Given the description of an element on the screen output the (x, y) to click on. 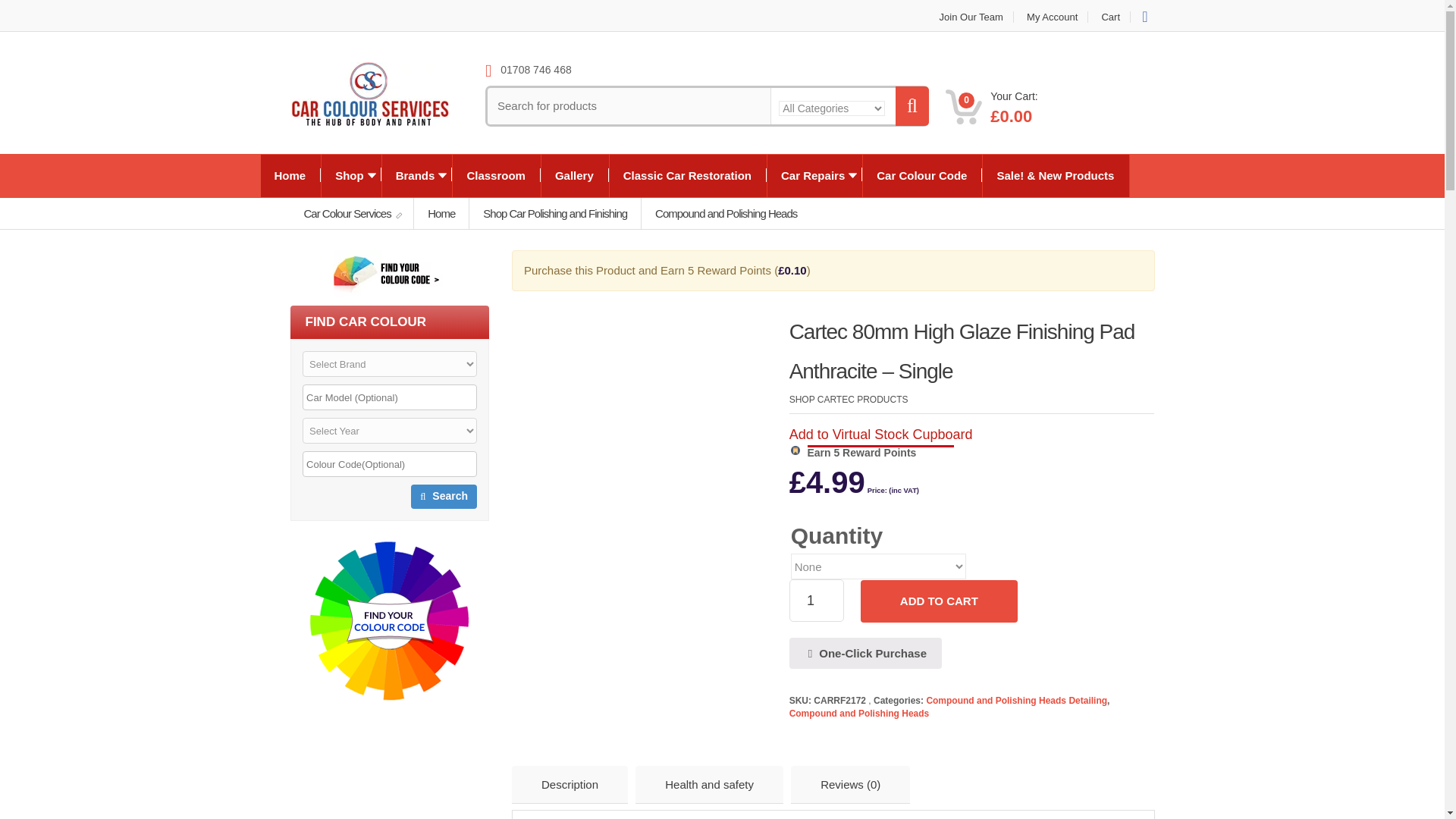
Join Our Team (971, 16)
Cart (1110, 16)
Join Our Team (971, 16)
My Account (1051, 16)
Cart (1110, 16)
My Account (1051, 16)
1 (816, 600)
Facebook (1143, 15)
Facebook (1143, 15)
